Given the description of an element on the screen output the (x, y) to click on. 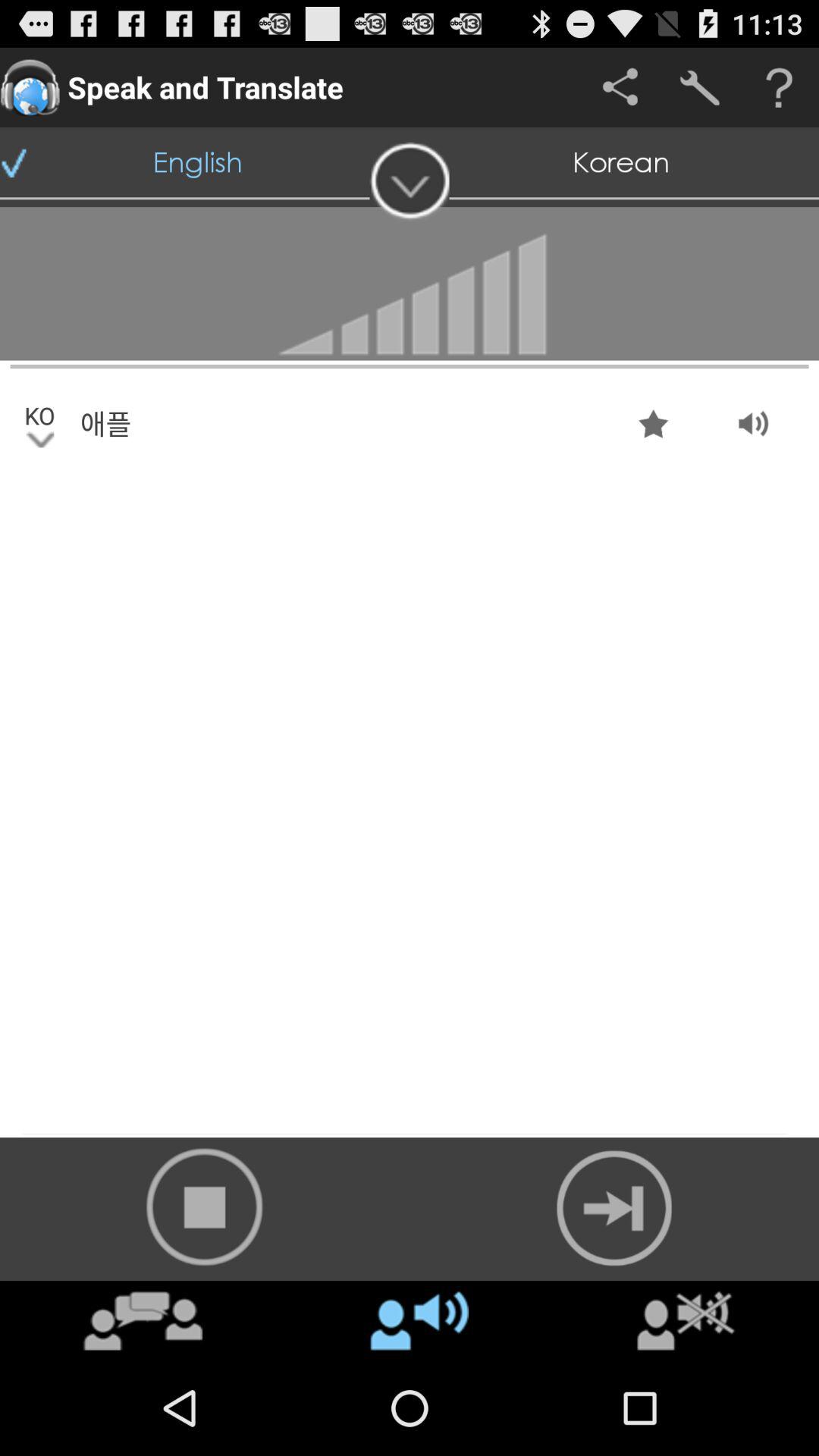
share this information (619, 87)
